Given the description of an element on the screen output the (x, y) to click on. 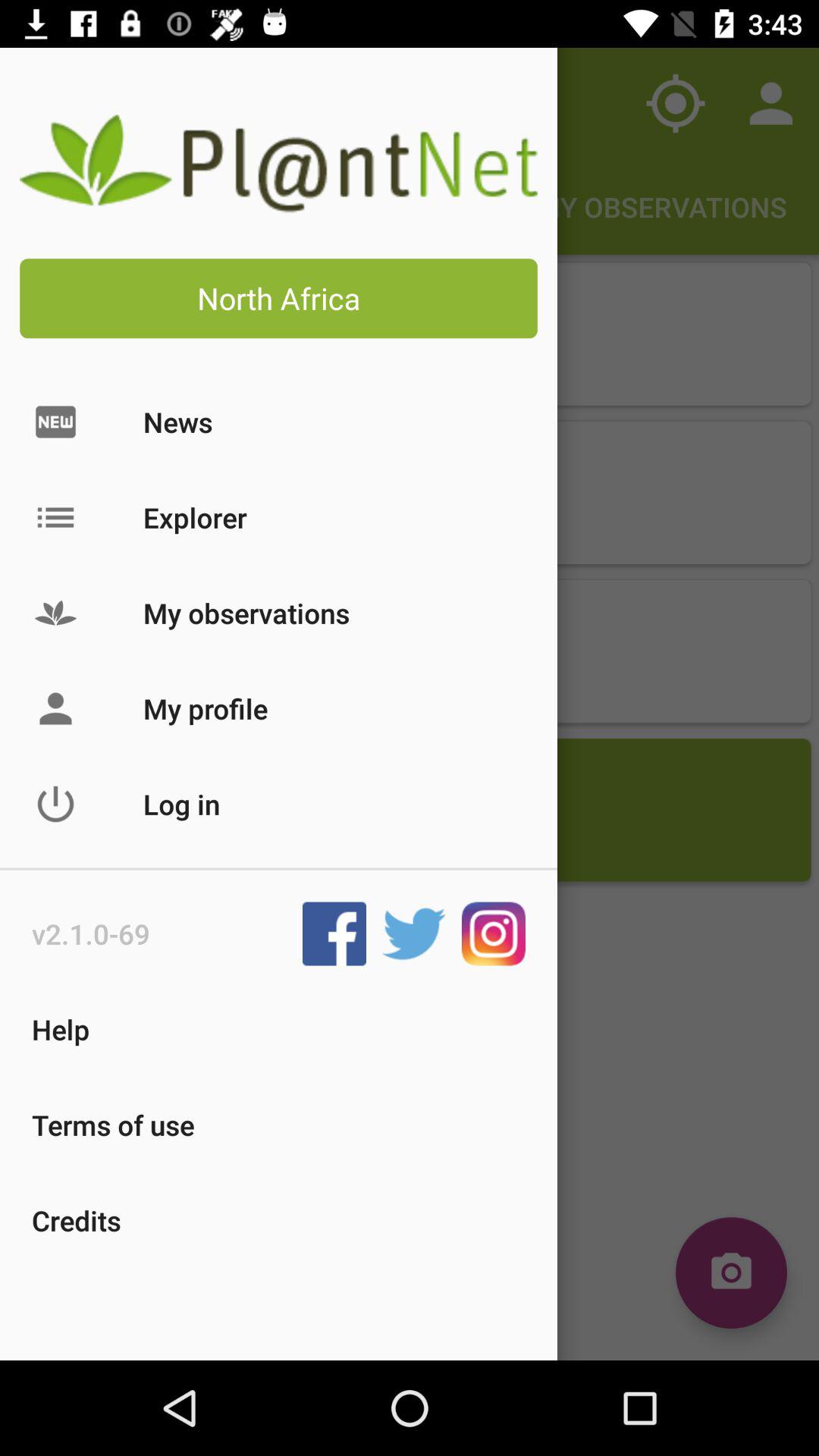
select profile icon which is on top right corner of the page (771, 103)
